Given the description of an element on the screen output the (x, y) to click on. 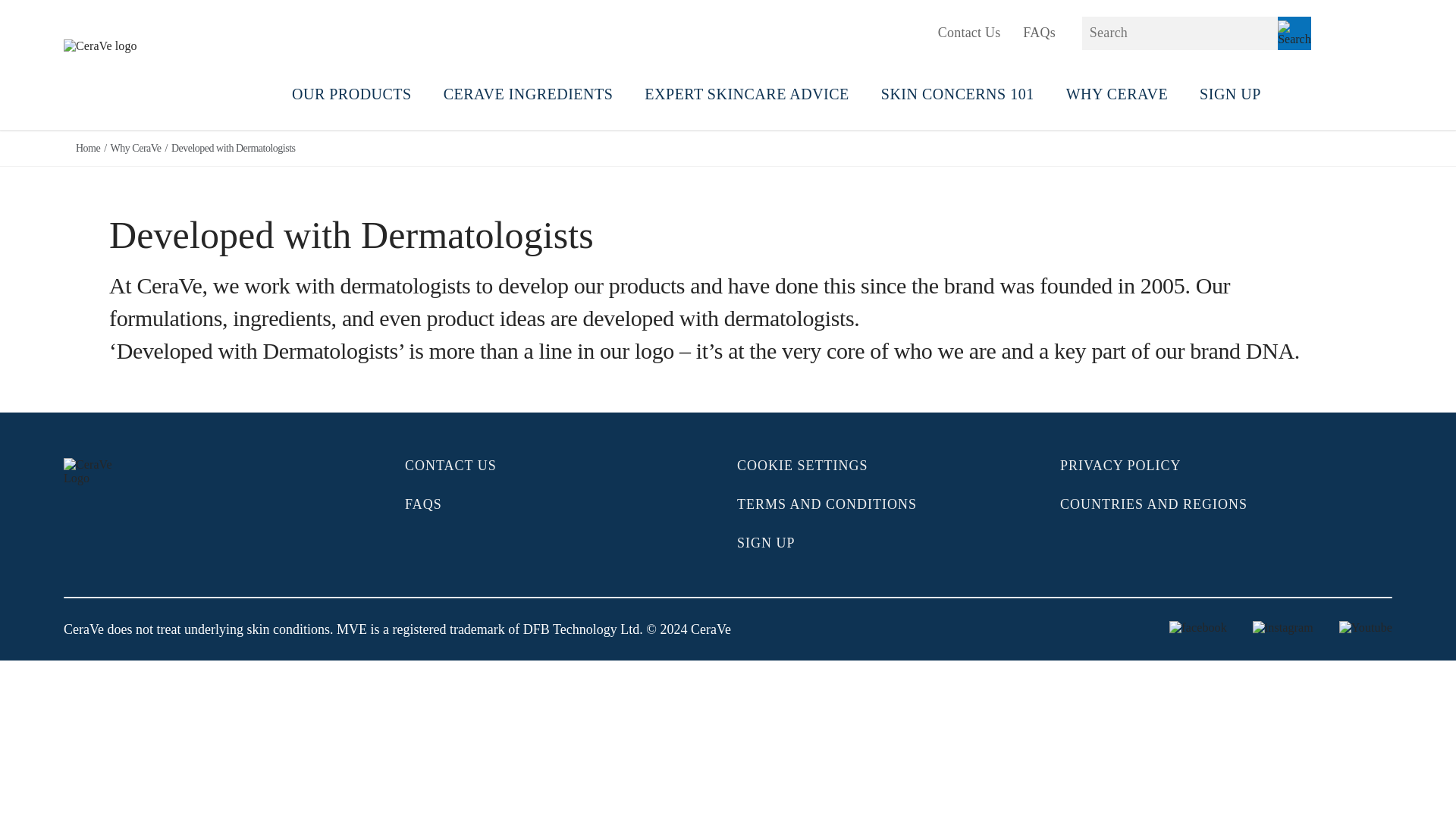
Developed with Dermatologists (228, 148)
Contact Us (969, 32)
FAQs (1038, 32)
Home (87, 148)
OUR PRODUCTS (352, 98)
Why CeraVe (130, 148)
